Given the description of an element on the screen output the (x, y) to click on. 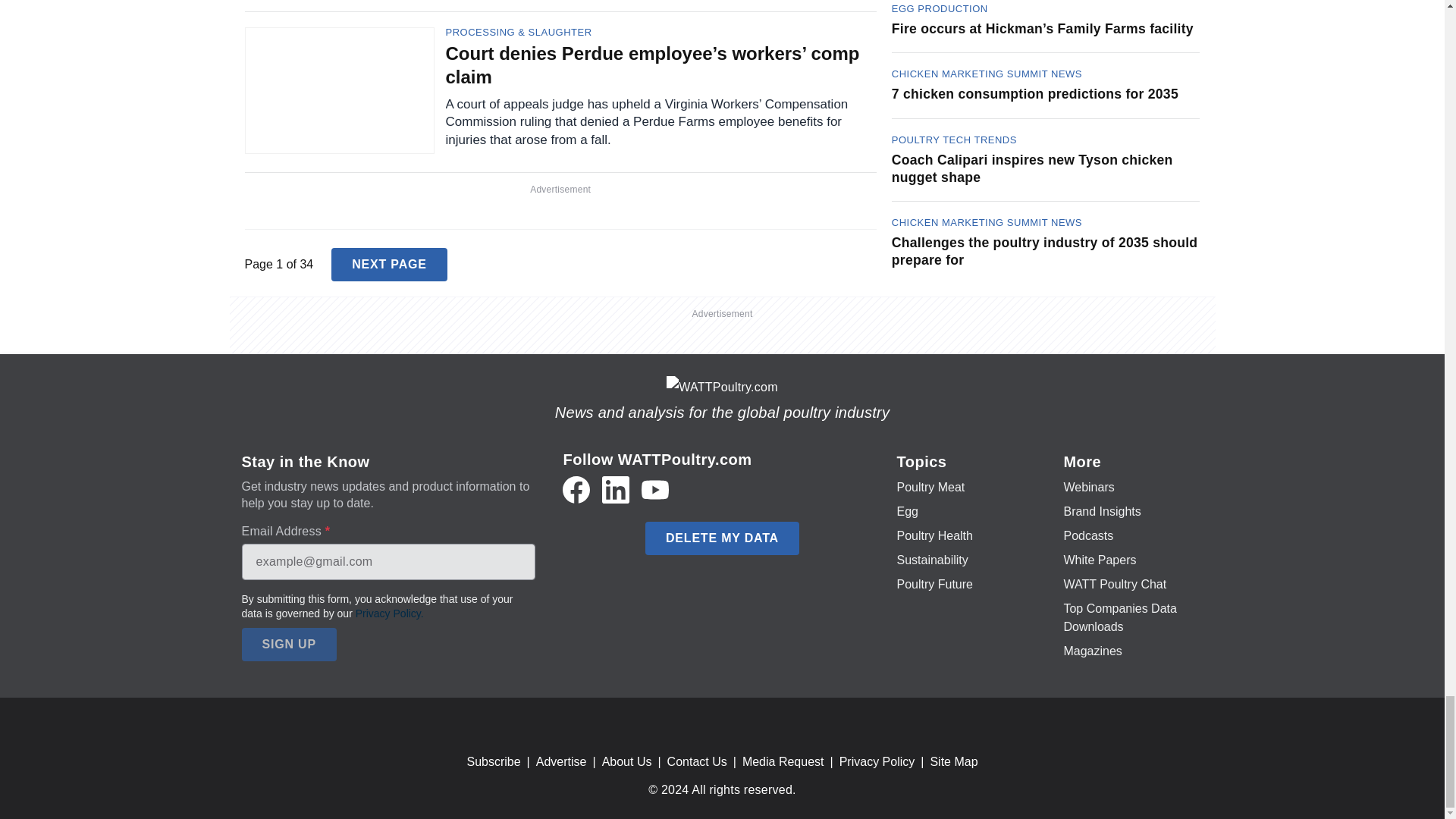
LinkedIn icon (615, 489)
YouTube icon (655, 489)
Facebook icon (575, 489)
